Given the description of an element on the screen output the (x, y) to click on. 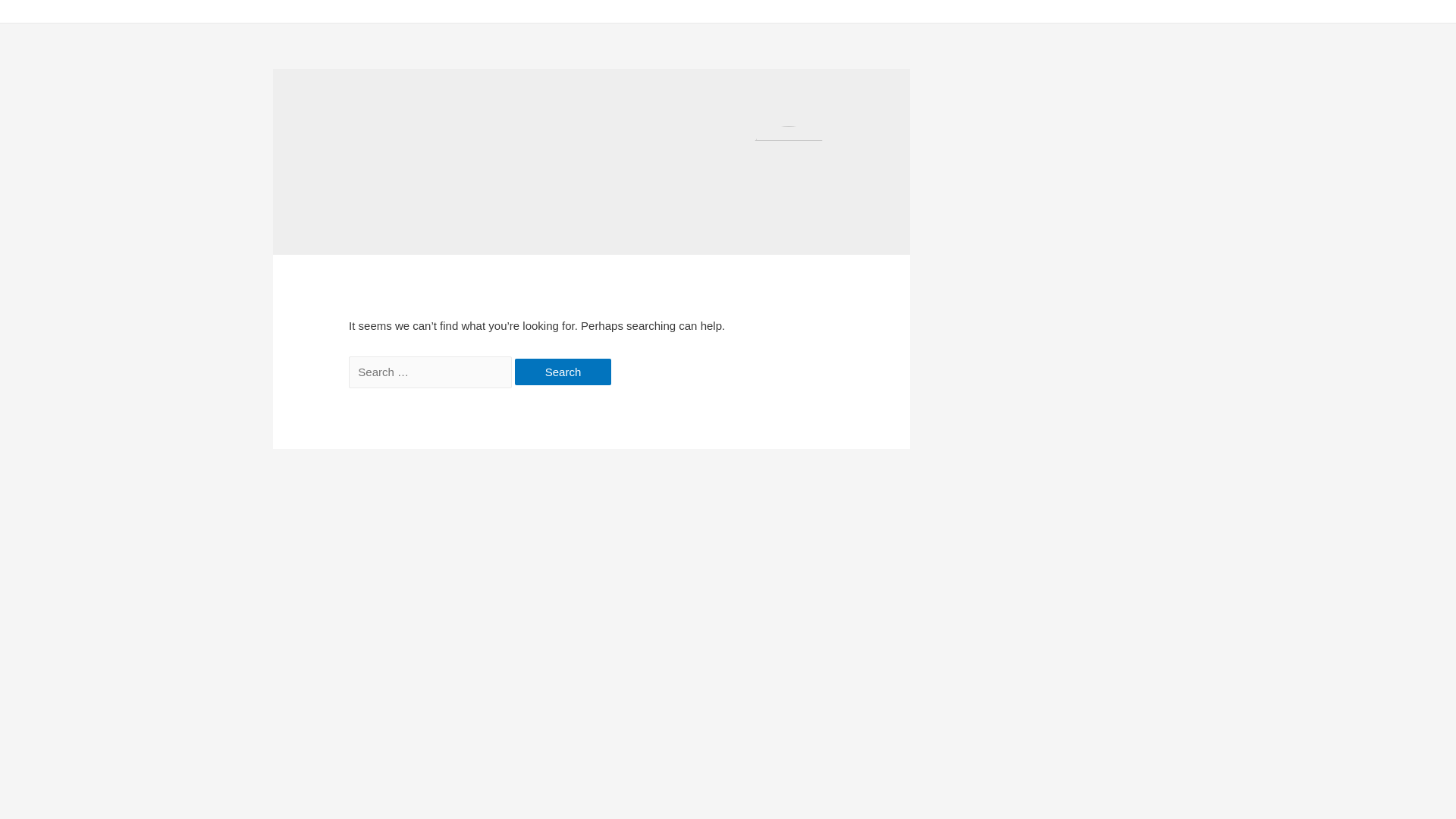
Search Element type: text (562, 371)
